Given the description of an element on the screen output the (x, y) to click on. 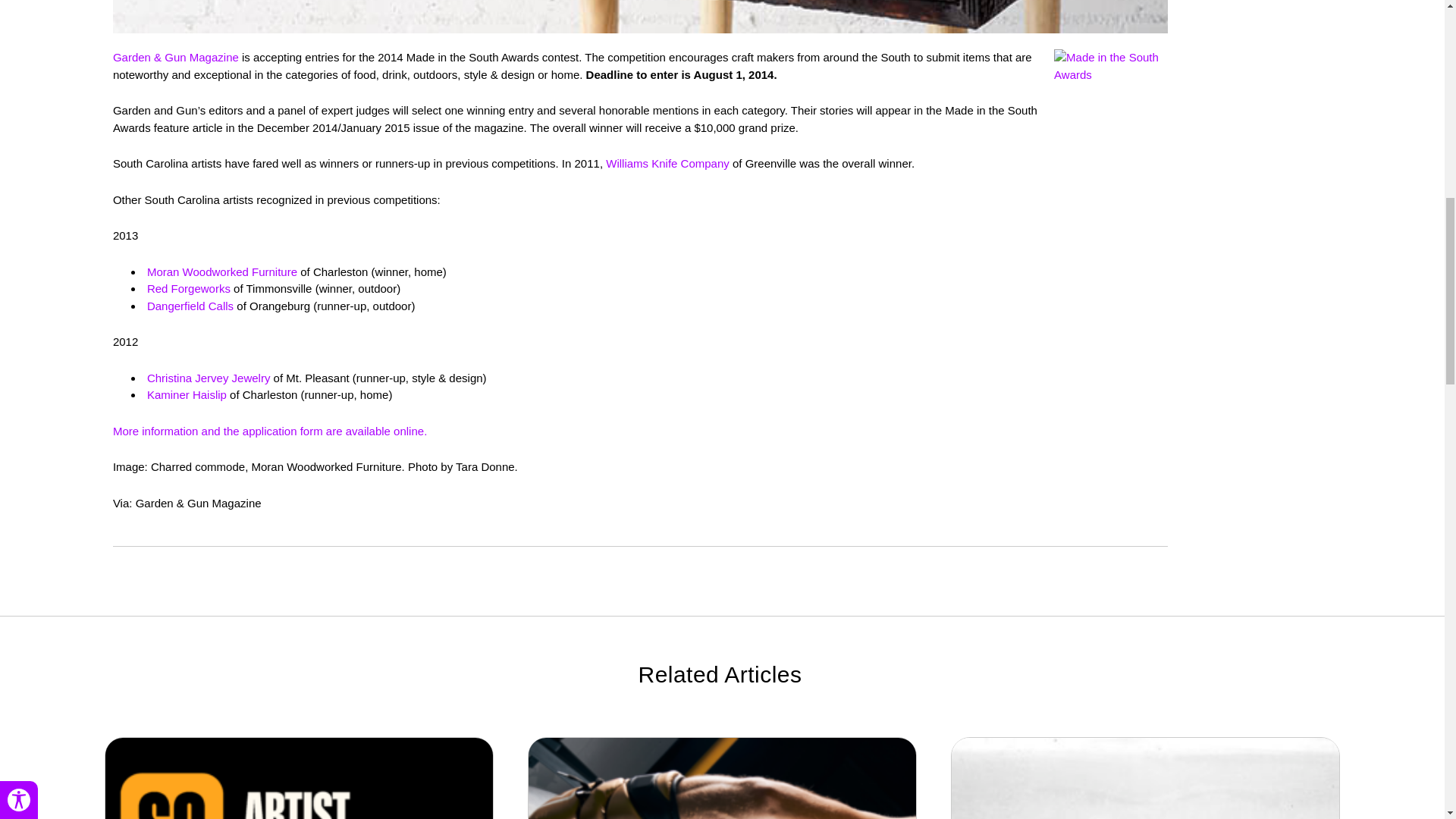
Moran Woodworked Furniture (222, 271)
Christina Jervey Jewelry (208, 377)
Kaminer Haislip (187, 394)
Williams Knife Company (667, 163)
Red Forgeworks (188, 287)
Dangerfield Calls (189, 305)
